Given the description of an element on the screen output the (x, y) to click on. 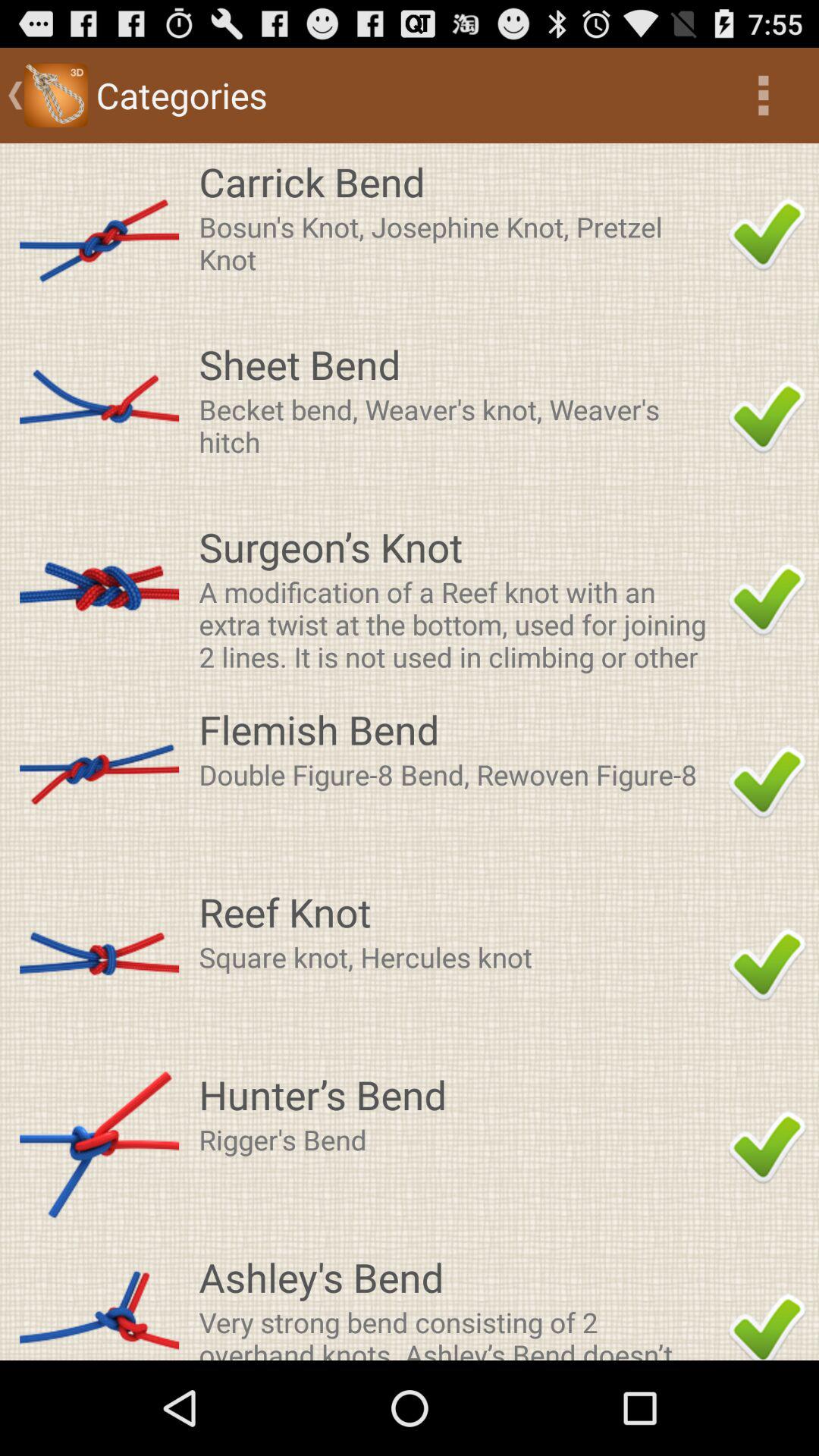
select the app above reef knot icon (459, 774)
